Given the description of an element on the screen output the (x, y) to click on. 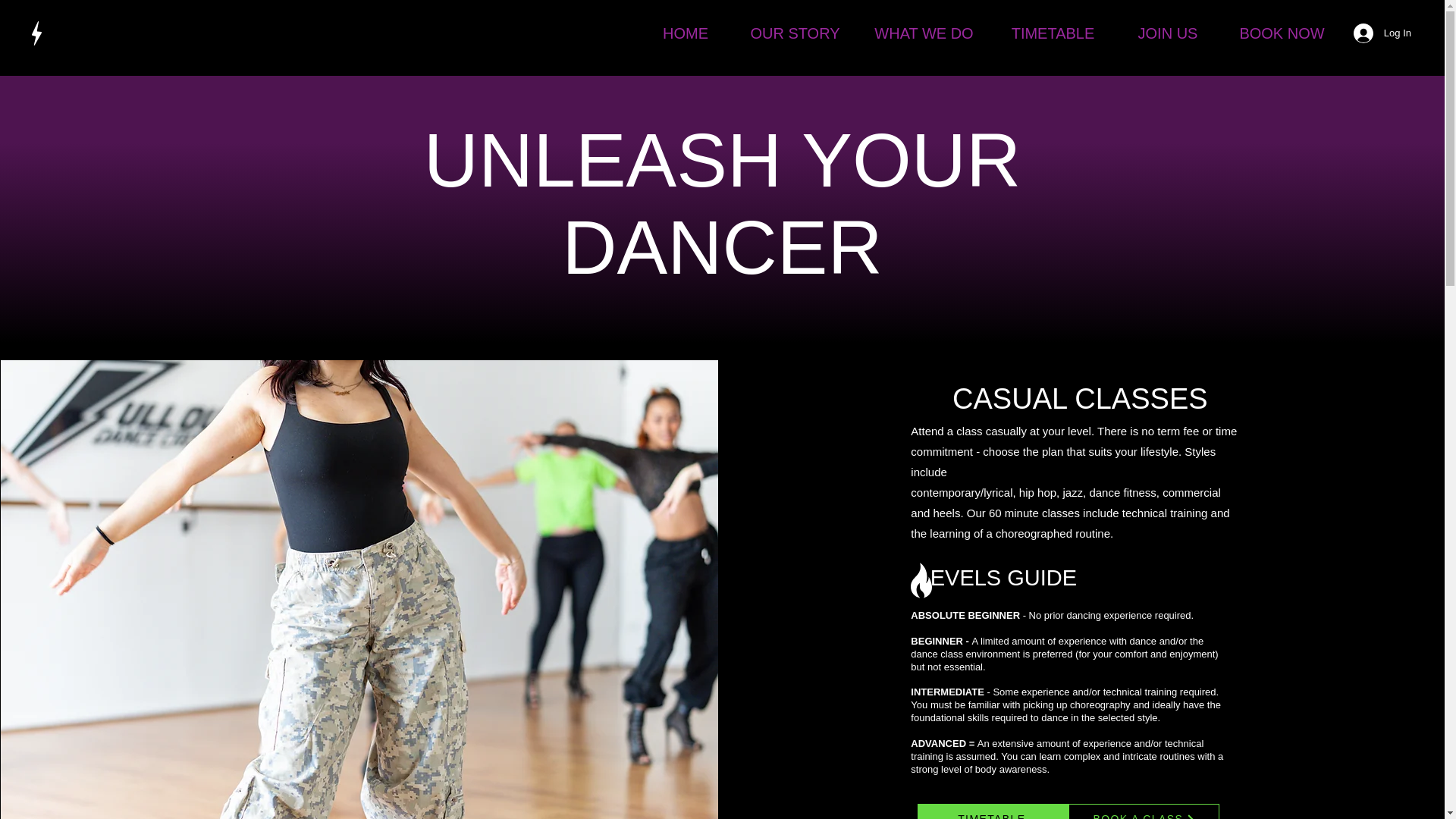
JOIN US (1168, 33)
HOME (685, 33)
TIMETABLE (1053, 33)
WHAT WE DO (924, 33)
Log In (1382, 32)
BOOK NOW (1281, 33)
OUR STORY (795, 33)
BOOK A CLASS (1144, 811)
TIMETABLE (992, 811)
